Given the description of an element on the screen output the (x, y) to click on. 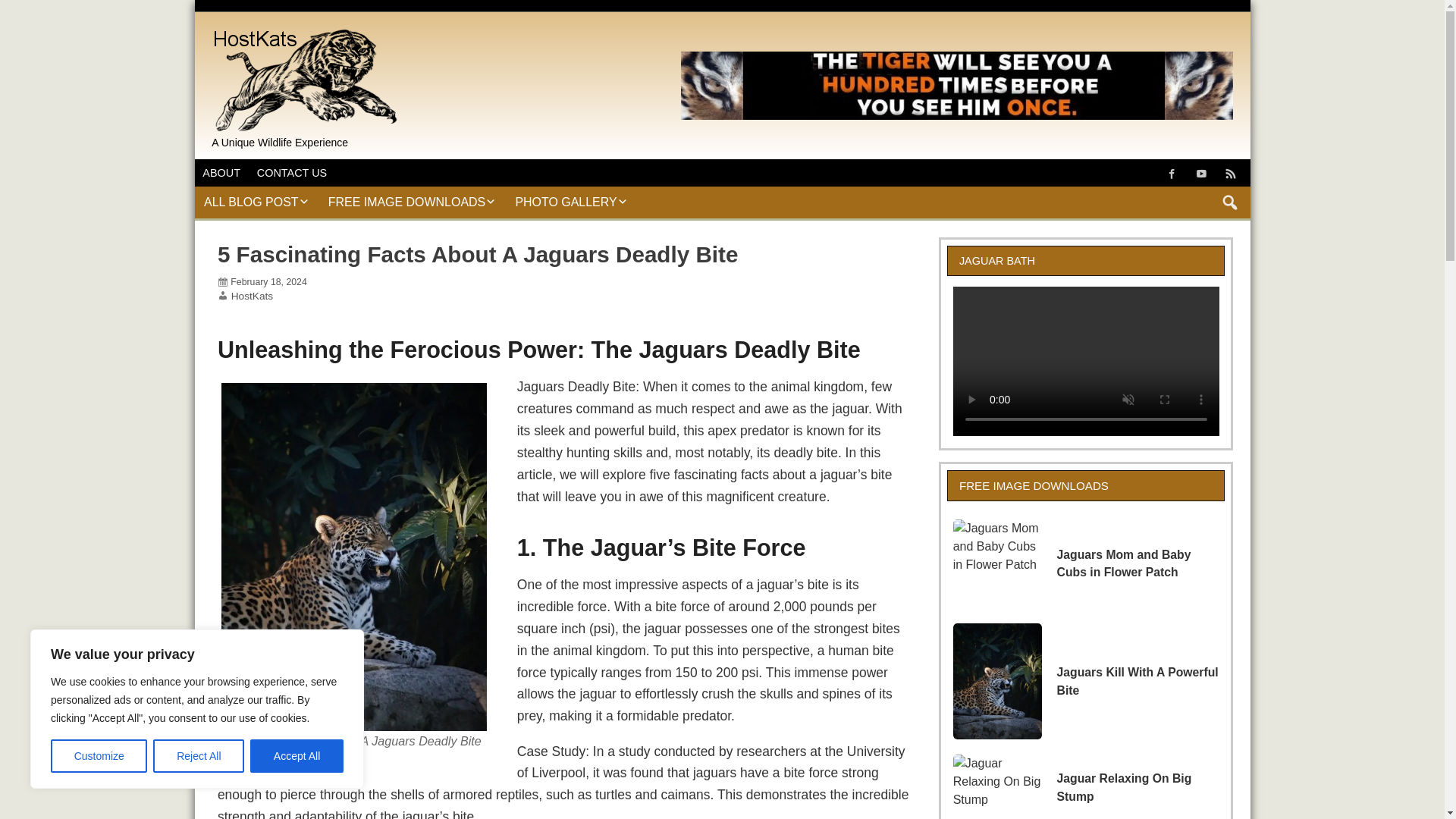
Customize (98, 756)
PHOTO GALLERY (571, 201)
FREE IMAGE DOWNLOADS (411, 201)
9:50 am (268, 281)
ALL BLOG POST (255, 201)
Accept All (296, 756)
ABOUT (220, 172)
Reject All (198, 756)
View all posts by HostKats (252, 296)
HostKats (306, 29)
